Given the description of an element on the screen output the (x, y) to click on. 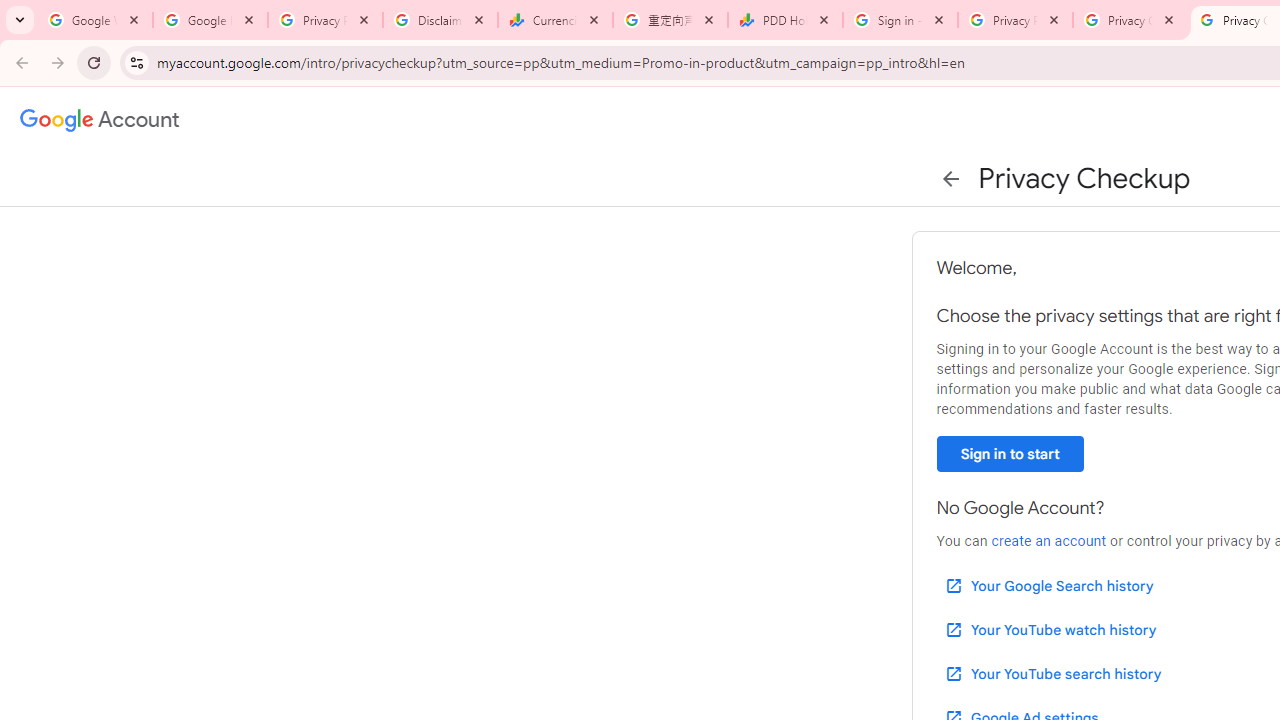
create an account (1048, 541)
Google Account settings (100, 120)
Your YouTube search history (1052, 673)
